Given the description of an element on the screen output the (x, y) to click on. 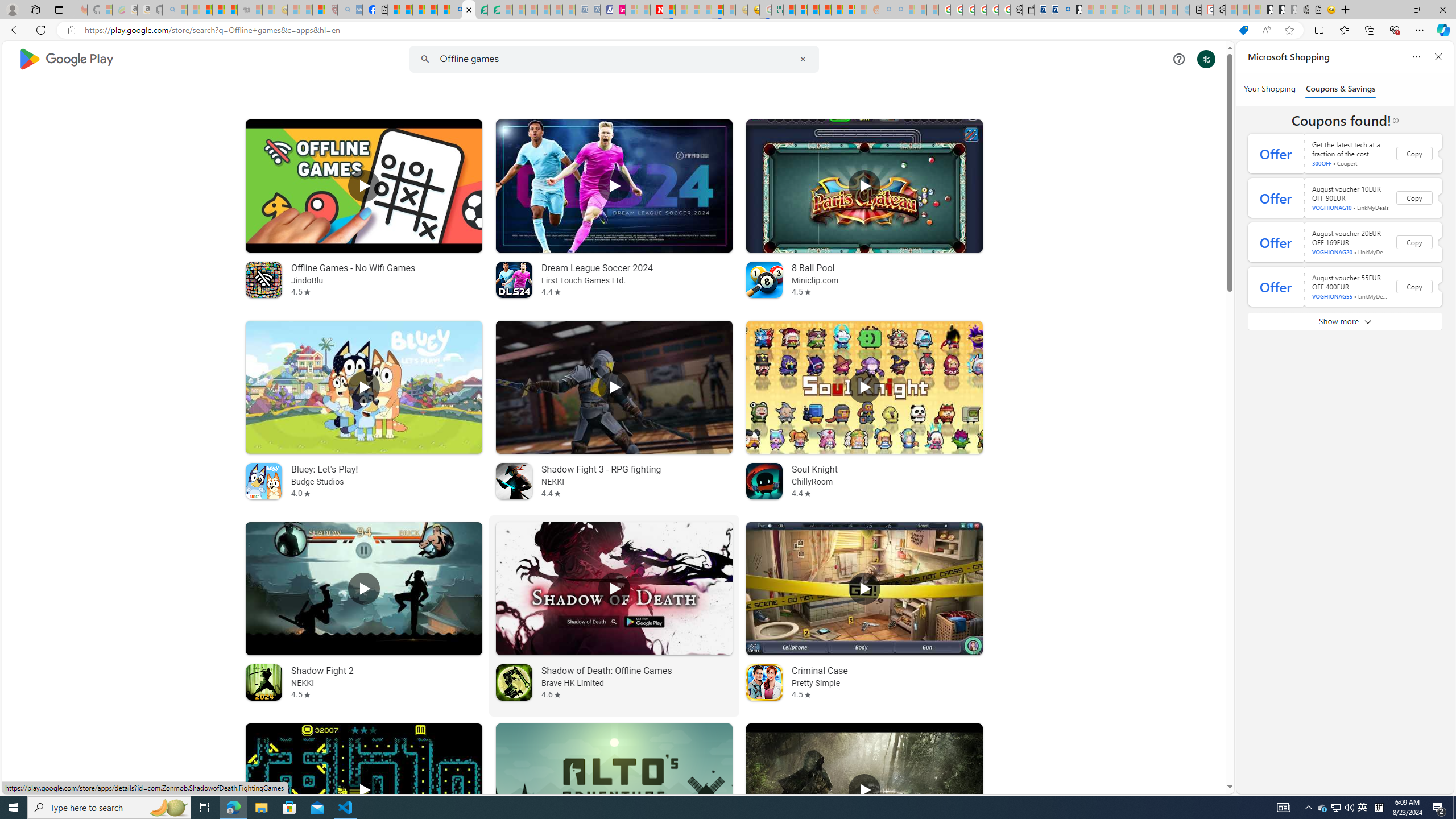
Play Soul Knight (864, 386)
Play Shadow Fight 3 - RPG fighting (613, 386)
Jobs - lastminute.com Investor Portal (619, 9)
Settings and more (Alt+F) (1419, 29)
Utah sues federal government - Search - Sleeping (896, 9)
Read aloud this page (Ctrl+Shift+U) (1266, 29)
View site information (70, 29)
list of asthma inhalers uk - Search - Sleeping (344, 9)
